Given the description of an element on the screen output the (x, y) to click on. 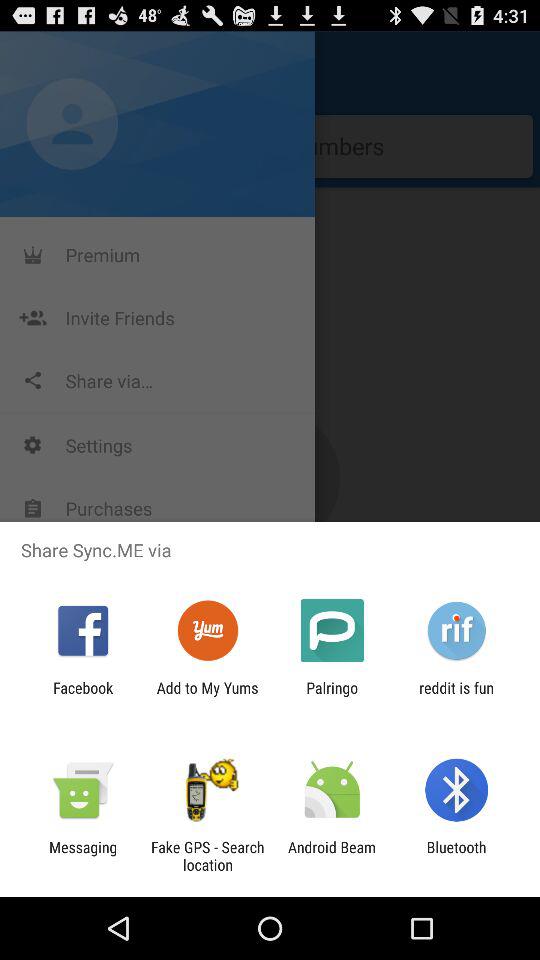
scroll to the messaging (83, 856)
